Given the description of an element on the screen output the (x, y) to click on. 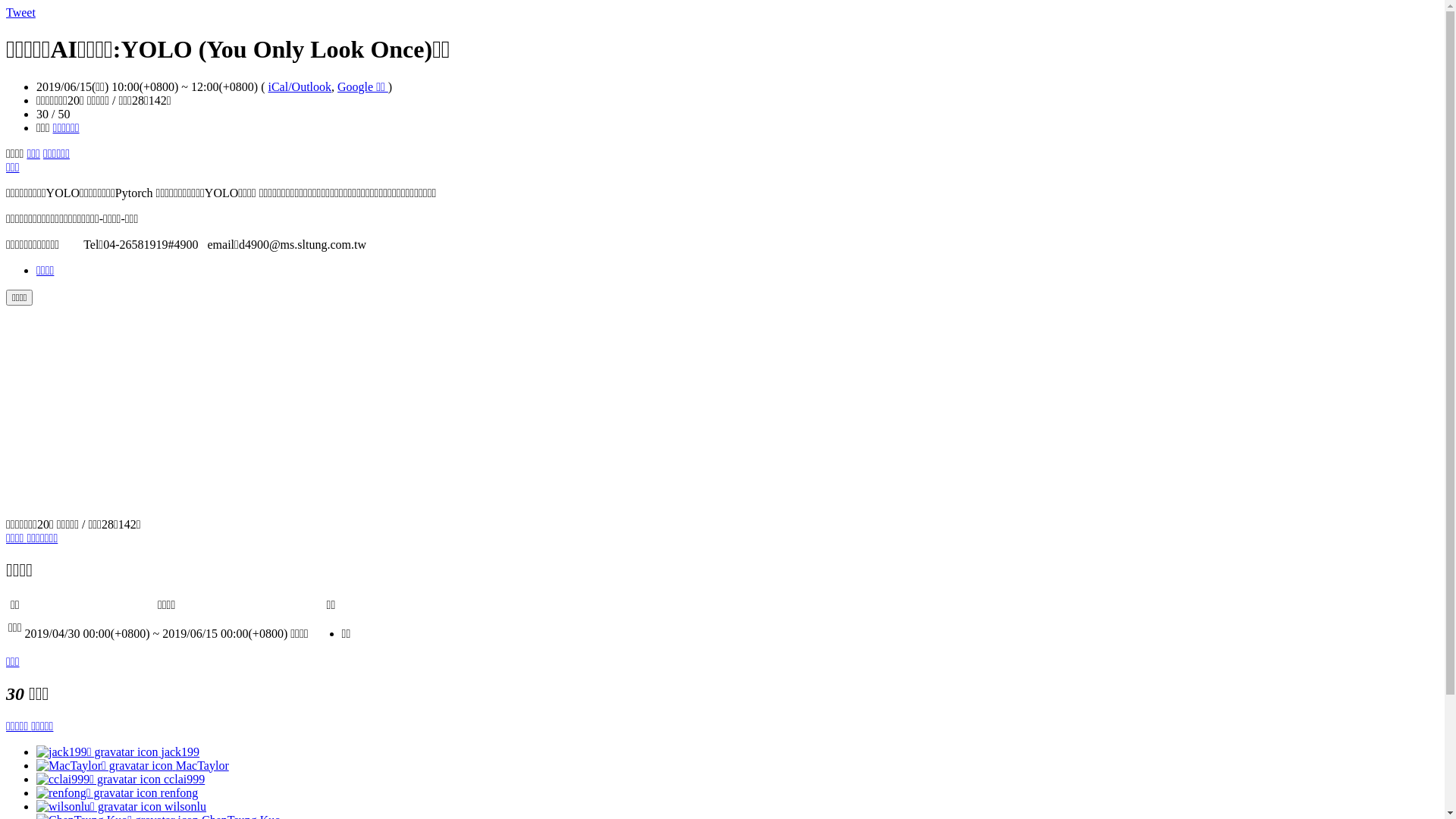
cclai999 Element type: text (120, 777)
renfong Element type: text (116, 791)
Tweet Element type: text (20, 12)
MacTaylor Element type: text (132, 764)
iCal/Outlook Element type: text (299, 86)
wilsonlu Element type: text (121, 805)
jack199 Element type: text (117, 750)
